Given the description of an element on the screen output the (x, y) to click on. 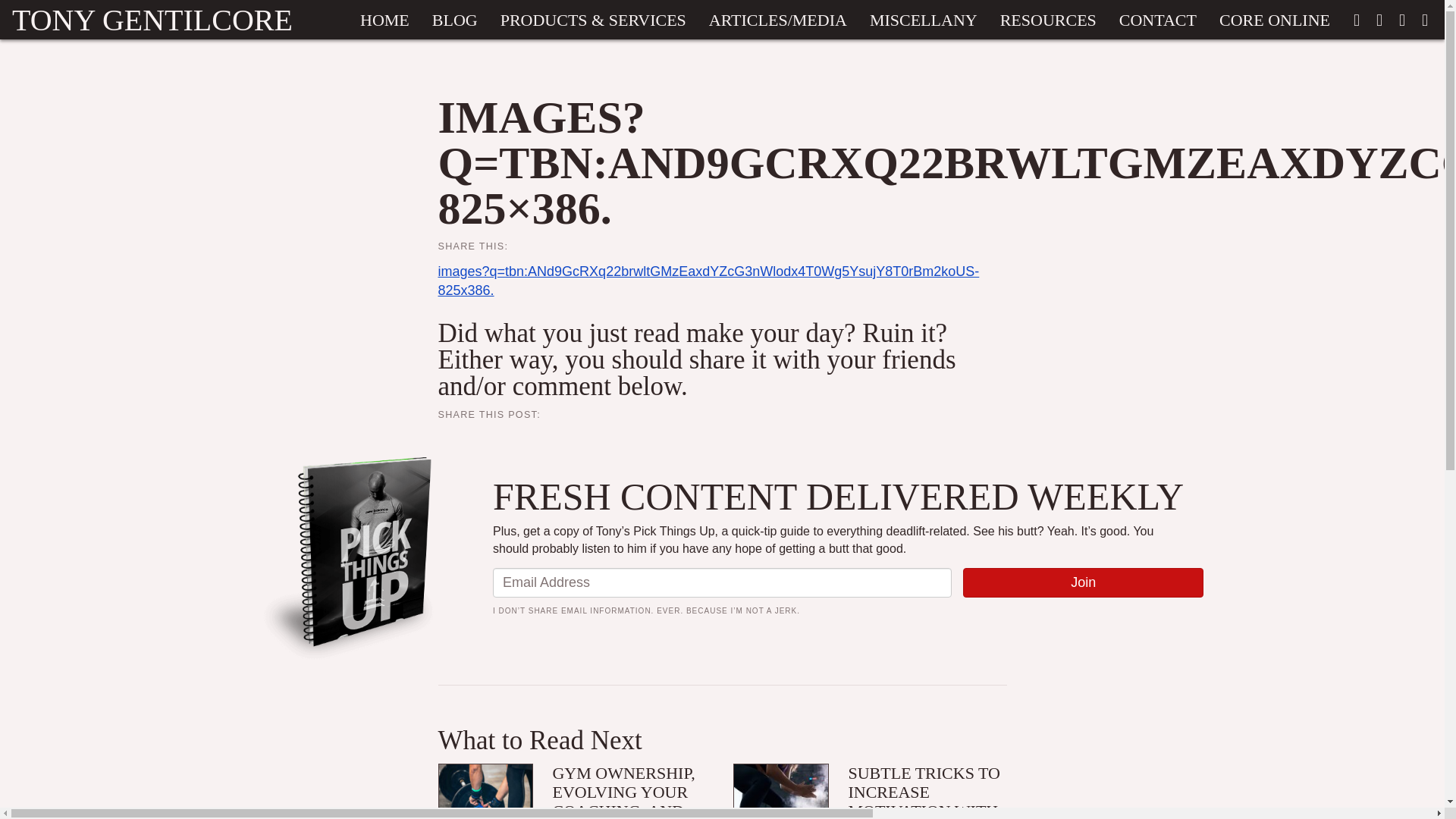
HOME (384, 19)
BLOG (454, 19)
Join (1083, 583)
Twitter (1379, 20)
Instagram (1401, 20)
Resources (1048, 19)
Blog (454, 19)
RESOURCES (1048, 19)
CORE ONLINE (1274, 19)
Contact (1158, 19)
Facebook (1356, 20)
MISCELLANY (923, 19)
Core Online (1274, 19)
Miscellany (923, 19)
